Given the description of an element on the screen output the (x, y) to click on. 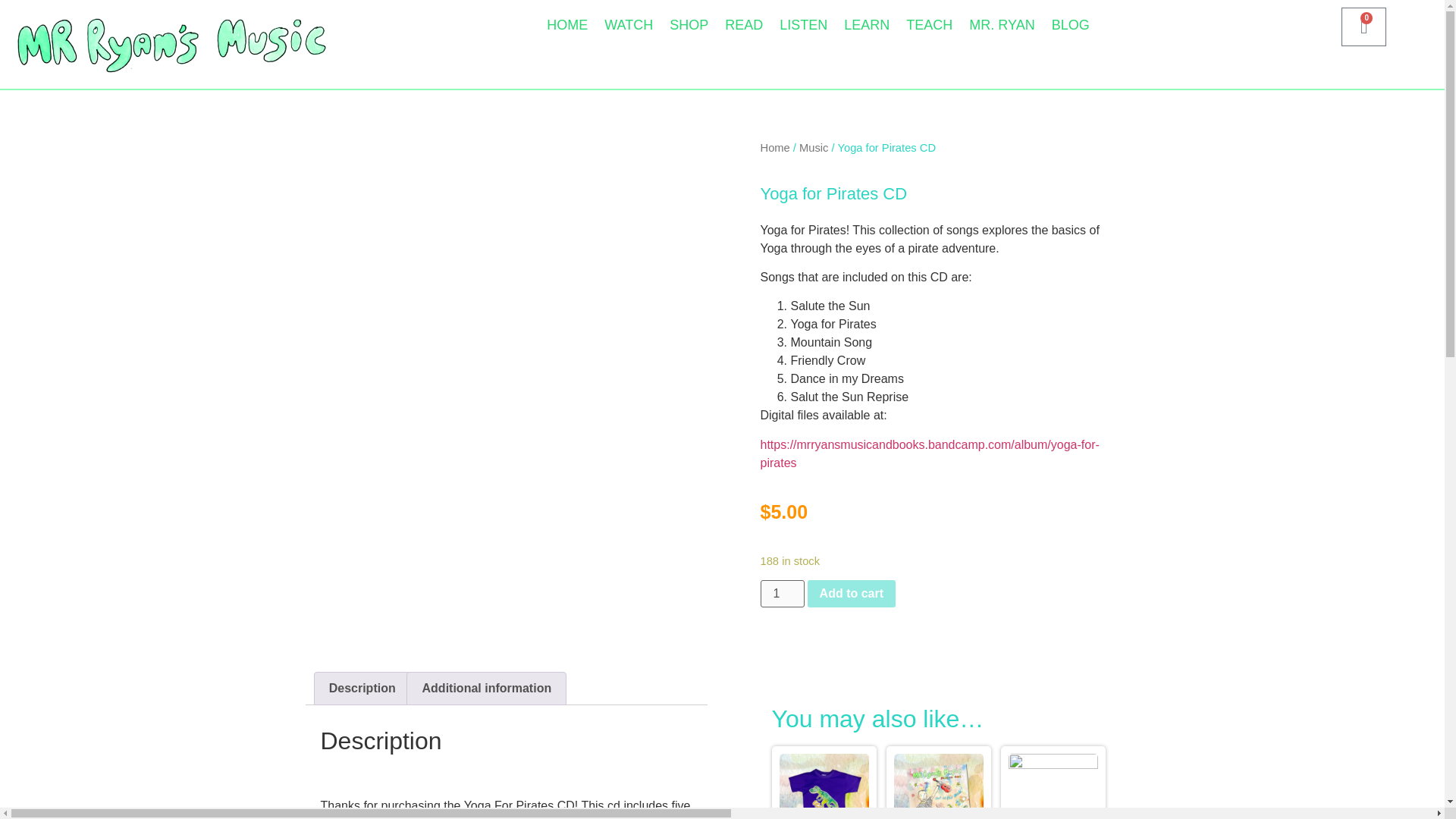
LEARN (866, 24)
READ (743, 24)
Music (813, 147)
BLOG (1070, 24)
Home (774, 147)
HOME (566, 24)
MR. RYAN (1001, 24)
TEACH (929, 24)
1 (781, 593)
Add to cart (851, 593)
